Given the description of an element on the screen output the (x, y) to click on. 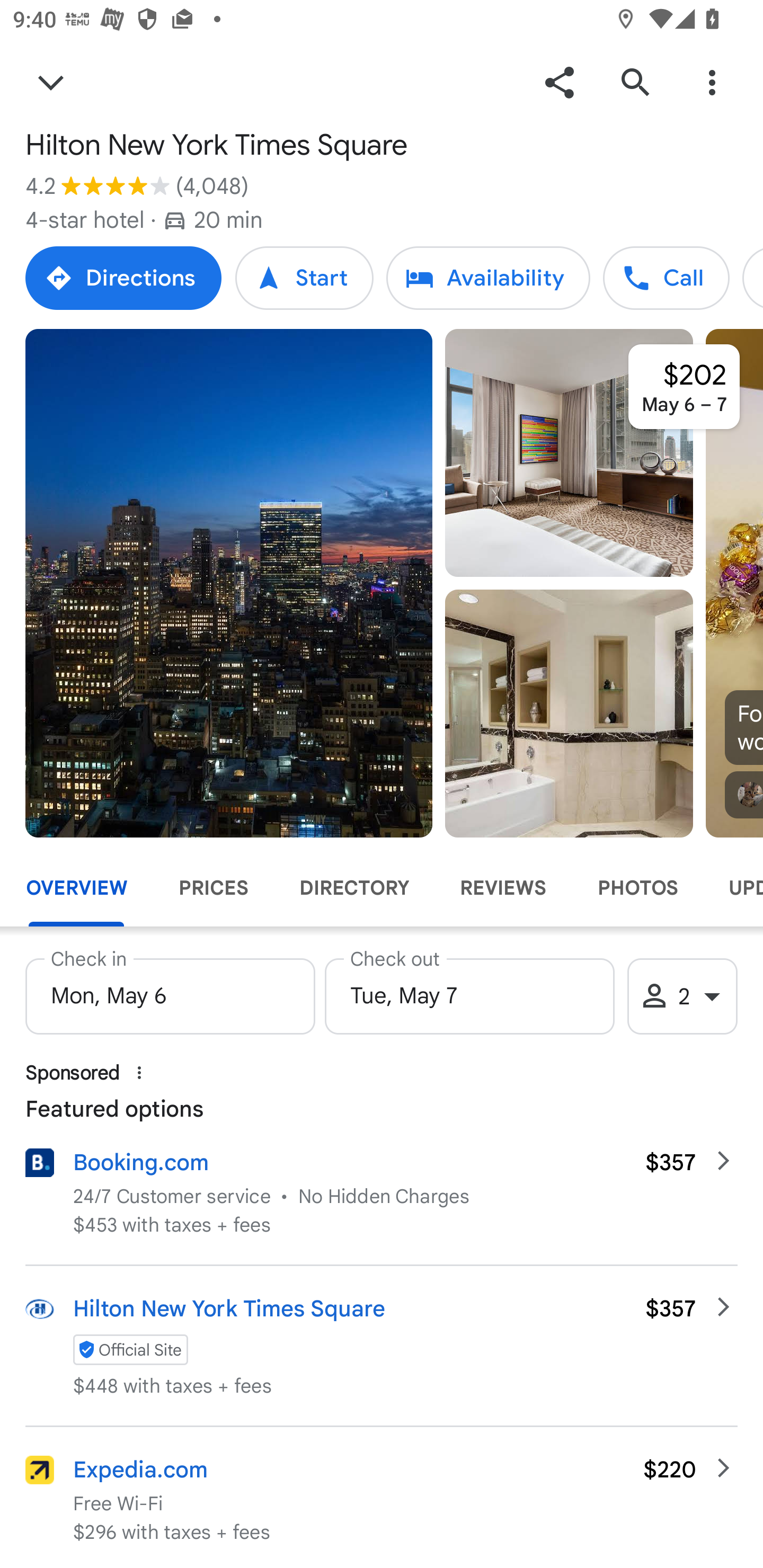
Back to Search (50, 81)
Share (559, 81)
Search (635, 81)
More options for Hilton New York Times Square (711, 81)
Start Start Start (304, 277)
Photo (228, 583)
Photo (568, 453)
Photo (568, 713)
PRICES Prices (212, 887)
DIRECTORY Directory (353, 887)
REVIEWS Reviews (502, 887)
PHOTOS Photos (637, 887)
Mon, May 6 Check in date Mon, May 6 Check in (170, 990)
Tue, May 7 Check out date Tue, May 7 Check out (469, 990)
Tap to select number of guests. Selected 2 2 (682, 996)
About this ad (139, 1072)
Expedia.com $220 Free Wi-Fi $296 with taxes + fees (381, 1497)
